Given the description of an element on the screen output the (x, y) to click on. 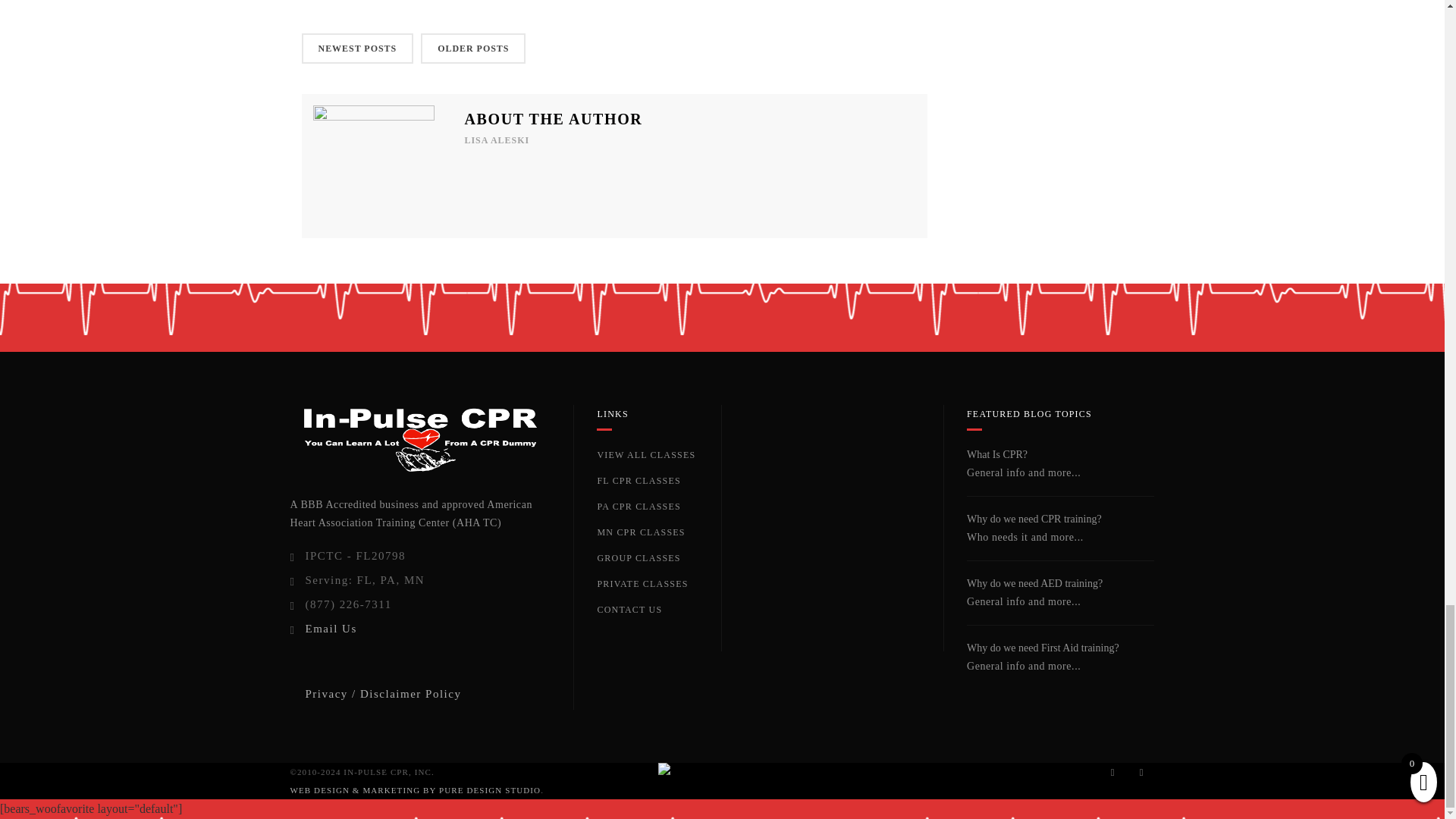
Email Us (330, 628)
NEWEST POSTS (357, 48)
FL CPR CLASSES (637, 480)
About PURE Design Studio (414, 789)
OLDER POSTS (472, 48)
VIEW ALL CLASSES (645, 454)
